Given the description of an element on the screen output the (x, y) to click on. 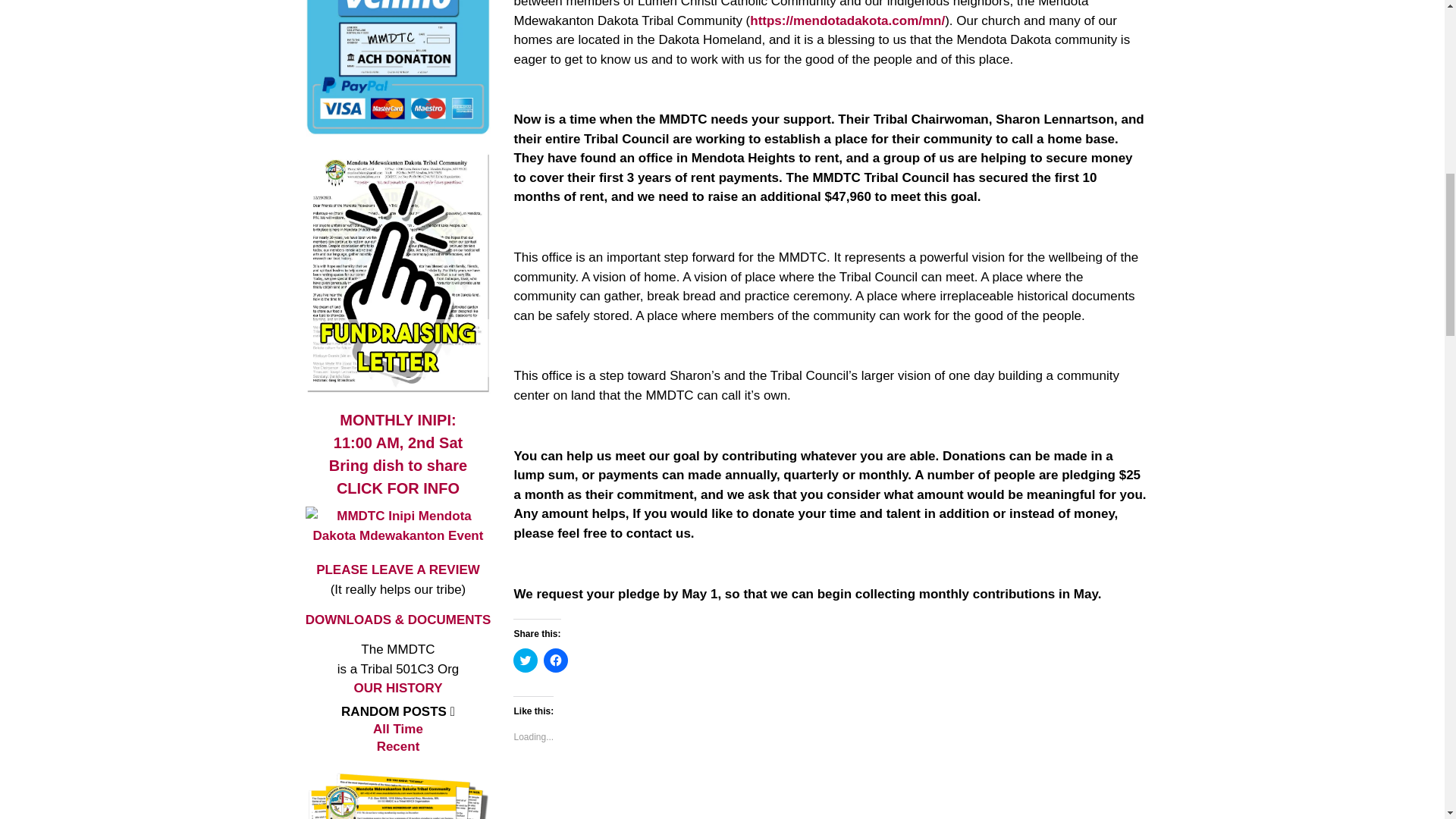
Click to share on Facebook (398, 431)
Click to share on Twitter (555, 660)
PLEASE LEAVE A REVIEW (398, 476)
OUR HISTORY (525, 660)
